Given the description of an element on the screen output the (x, y) to click on. 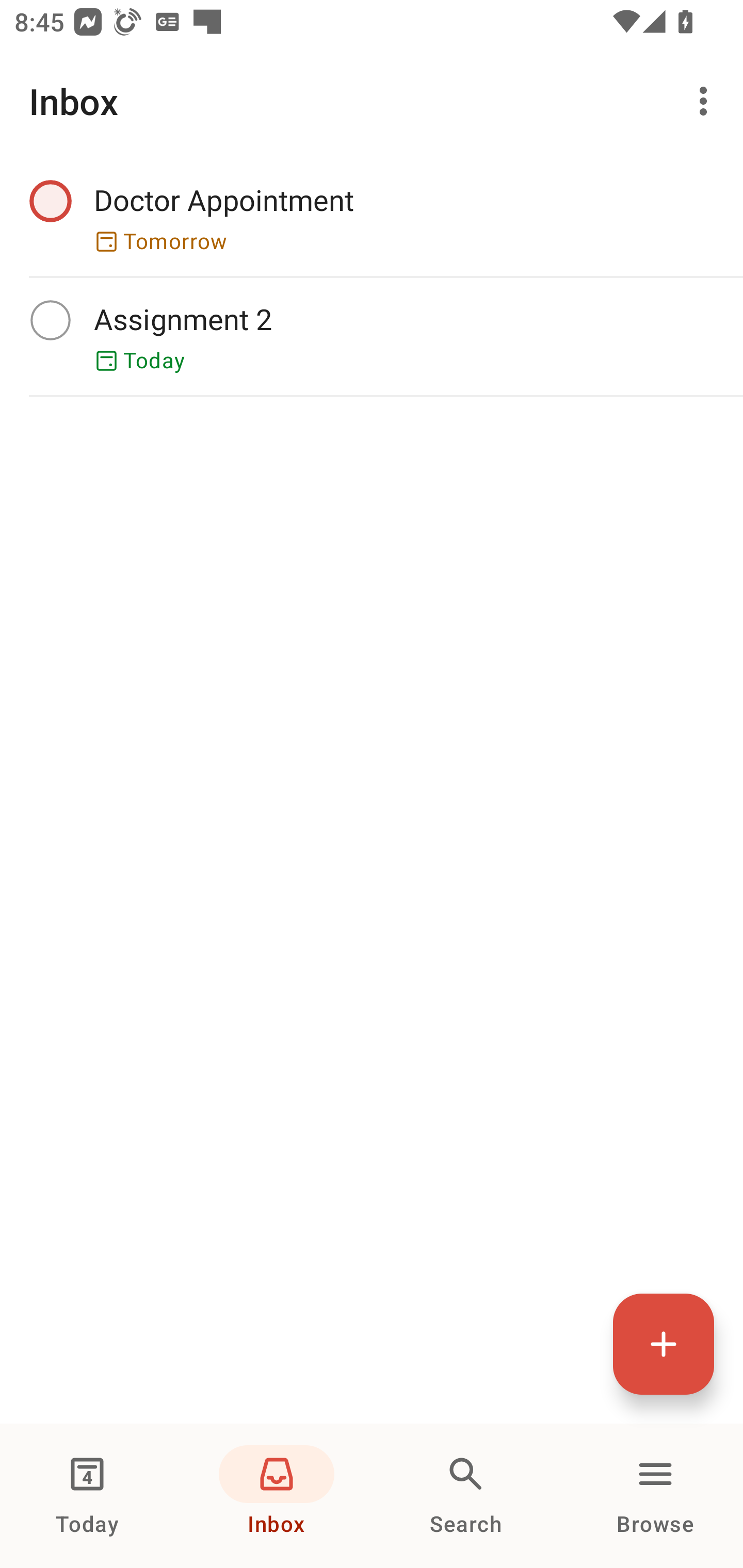
Inbox More options (371, 100)
More options (706, 101)
Complete Doctor Appointment Tomorrow (371, 216)
Complete (50, 200)
Complete Assignment 2 Today (371, 336)
Complete (50, 319)
Quick add (663, 1343)
Today (87, 1495)
Search (465, 1495)
Browse (655, 1495)
